Given the description of an element on the screen output the (x, y) to click on. 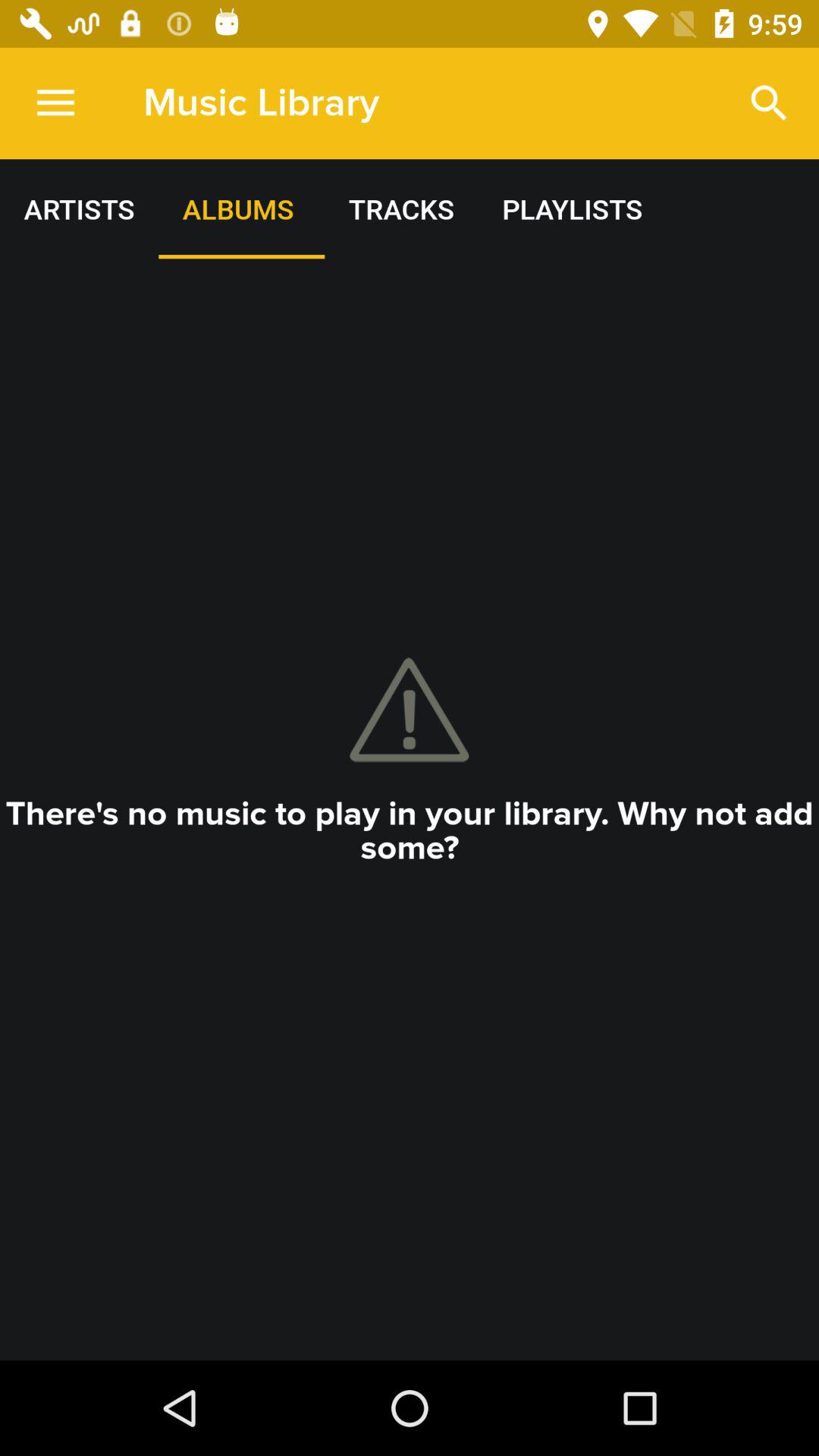
choose the icon next to the music library item (769, 102)
